Given the description of an element on the screen output the (x, y) to click on. 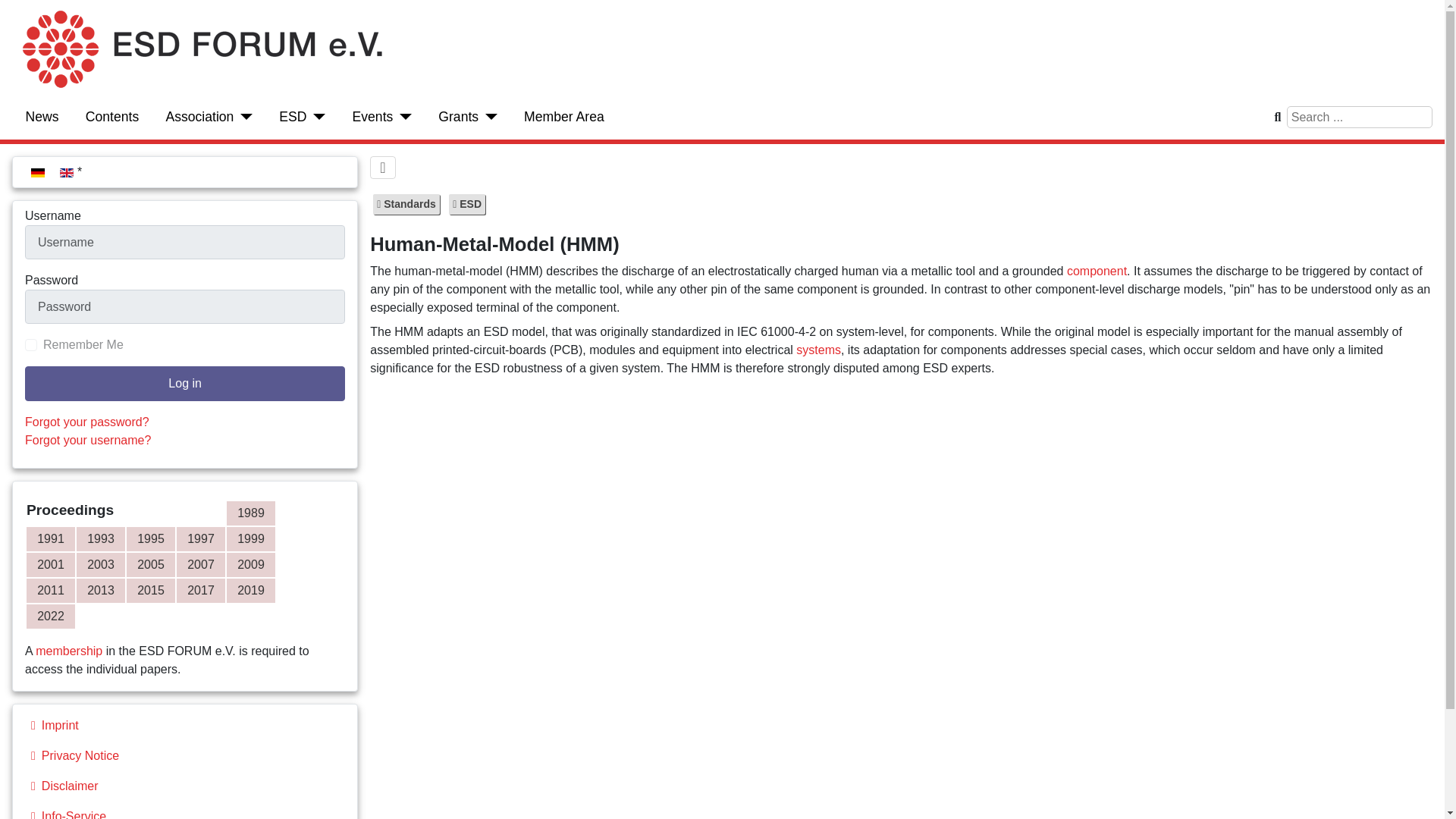
Forgot your username? (87, 440)
1993 (101, 539)
Forgot your password? (86, 421)
News (42, 116)
ESD FORUM e.V. (198, 116)
1997 (200, 539)
Table of Contents (111, 116)
yes (30, 345)
1995 (150, 539)
ESD Grants (458, 116)
